Given the description of an element on the screen output the (x, y) to click on. 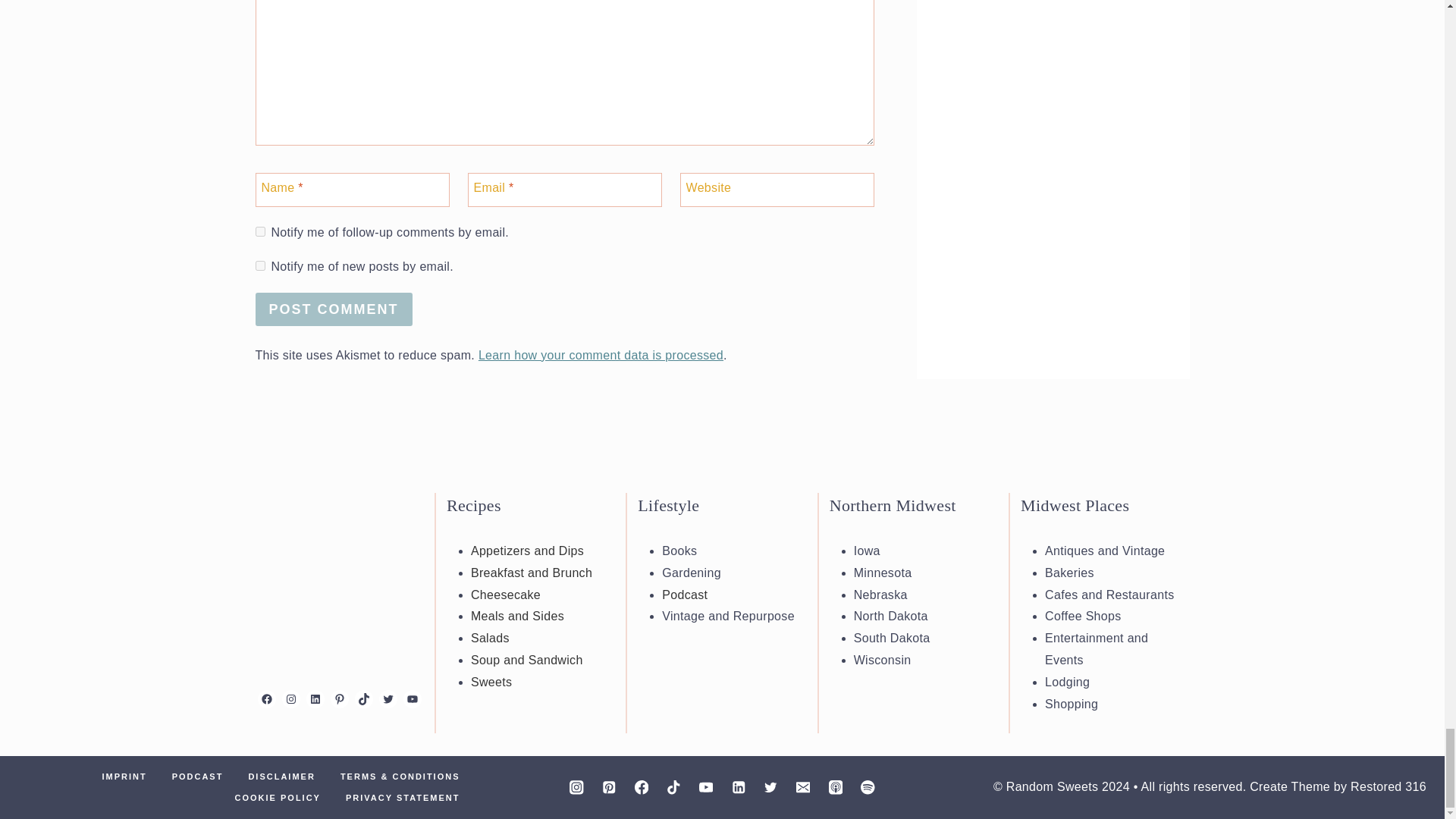
subscribe (259, 266)
Post Comment (333, 308)
subscribe (259, 231)
